Given the description of an element on the screen output the (x, y) to click on. 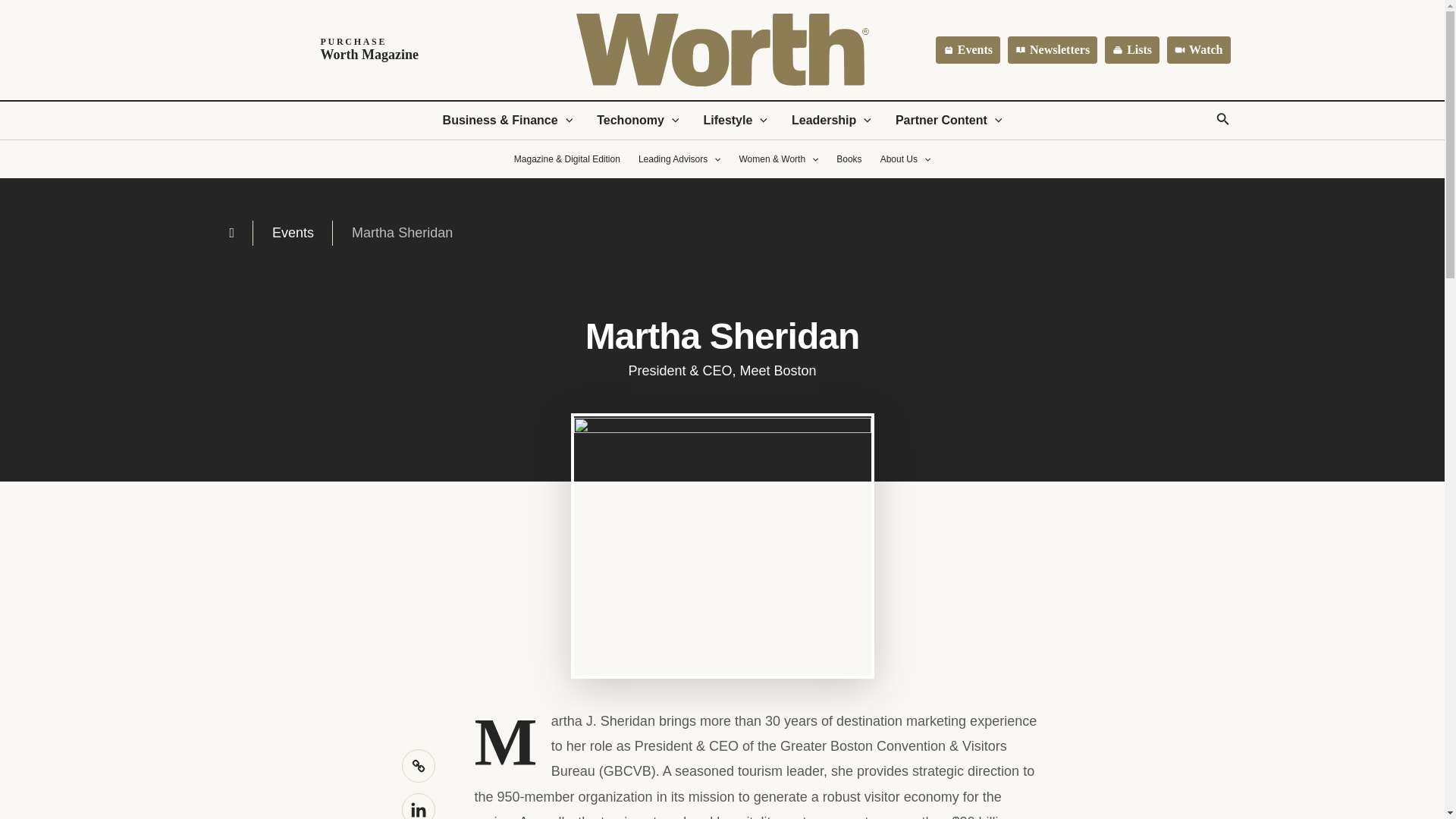
Linkedin (330, 49)
Leadership (418, 806)
Partner Content (830, 120)
Events (948, 120)
Newsletters (968, 49)
Lifestyle (1052, 49)
Techonomy (734, 120)
Watch (637, 120)
Copy Link (1198, 49)
